Given the description of an element on the screen output the (x, y) to click on. 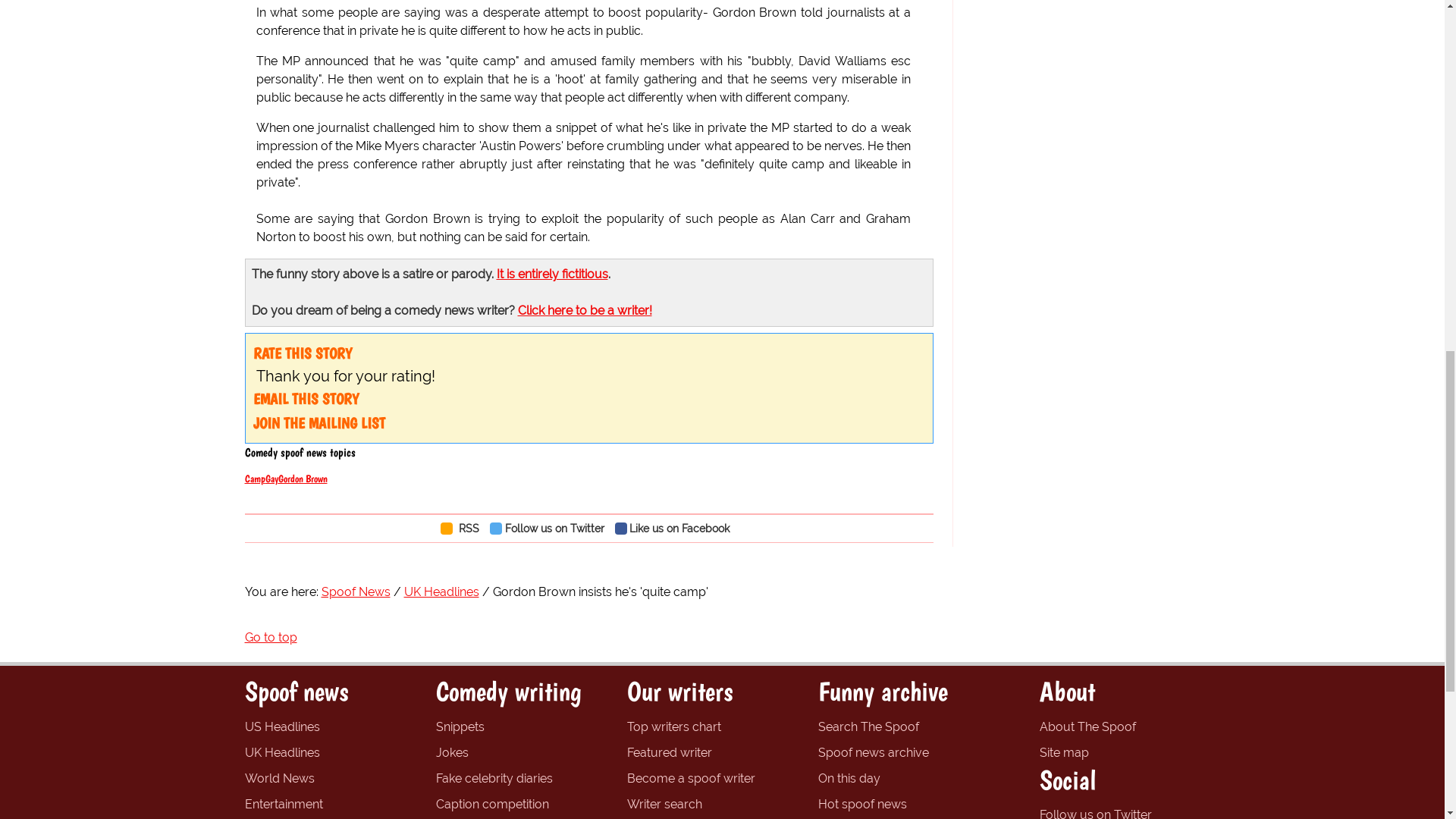
Go to top (270, 636)
It is entirely fictitious (551, 273)
Gordon Brown (302, 478)
Camp (254, 478)
View RSS Feed (463, 527)
JOIN THE MAILING LIST (319, 423)
Click here to be a writer! (583, 310)
RSS (463, 527)
Gay (271, 478)
Spoof News (355, 591)
UK Headlines (441, 591)
Spoof News US Headlines (281, 726)
Follow us on Twitter (550, 527)
EMAIL THIS STORY (305, 398)
Like us on Facebook (676, 527)
